Given the description of an element on the screen output the (x, y) to click on. 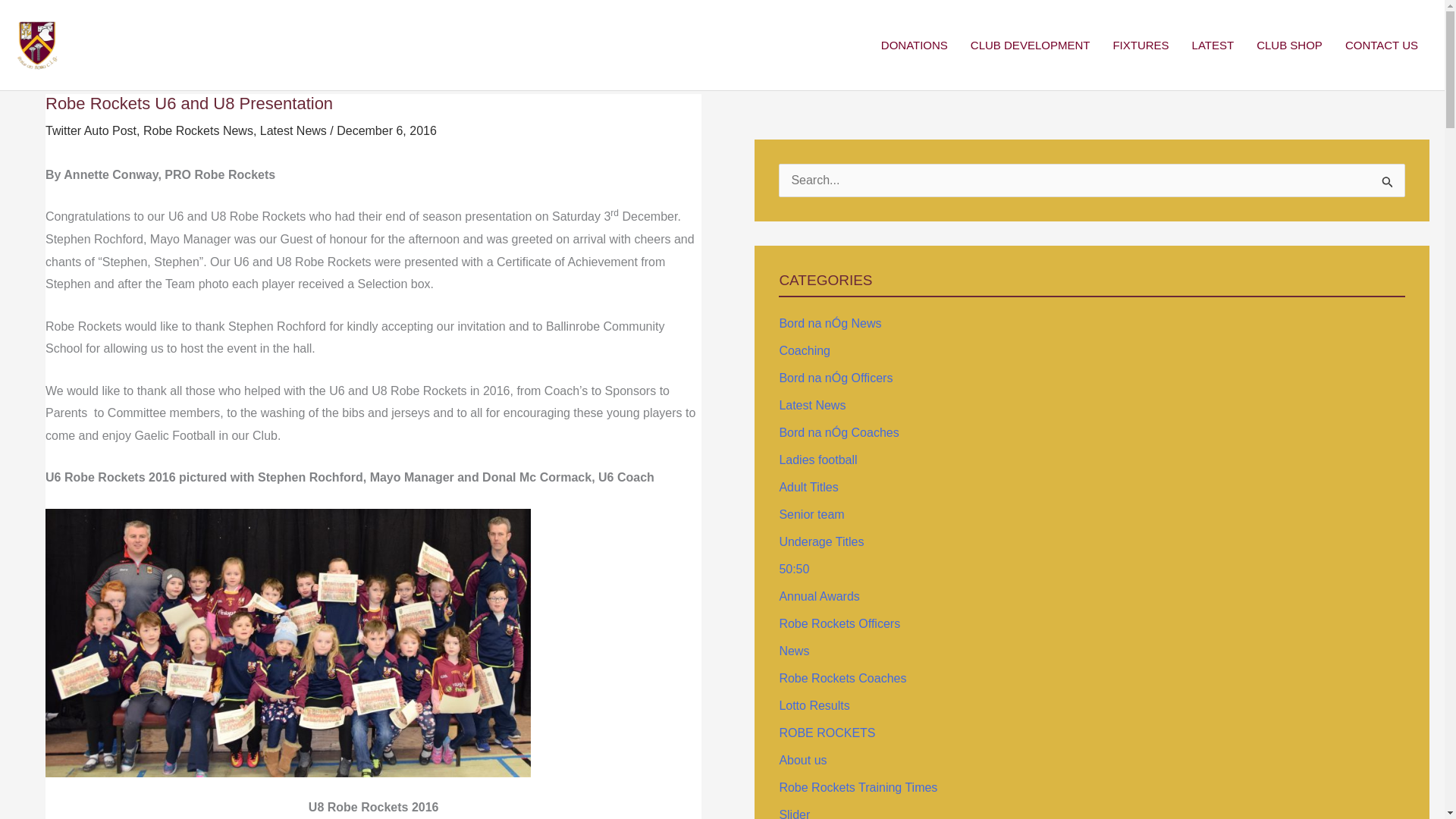
Coaching (803, 350)
Twitter Auto Post (90, 130)
Latest News (293, 130)
Latest News (811, 404)
DONATIONS (914, 45)
FIXTURES (1139, 45)
LATEST (1213, 45)
CLUB SHOP (1288, 45)
Underage Titles (820, 541)
Ladies football (817, 459)
50:50 (793, 568)
Adult Titles (808, 486)
Senior team (811, 513)
Robe Rockets News (197, 130)
CLUB DEVELOPMENT (1030, 45)
